Given the description of an element on the screen output the (x, y) to click on. 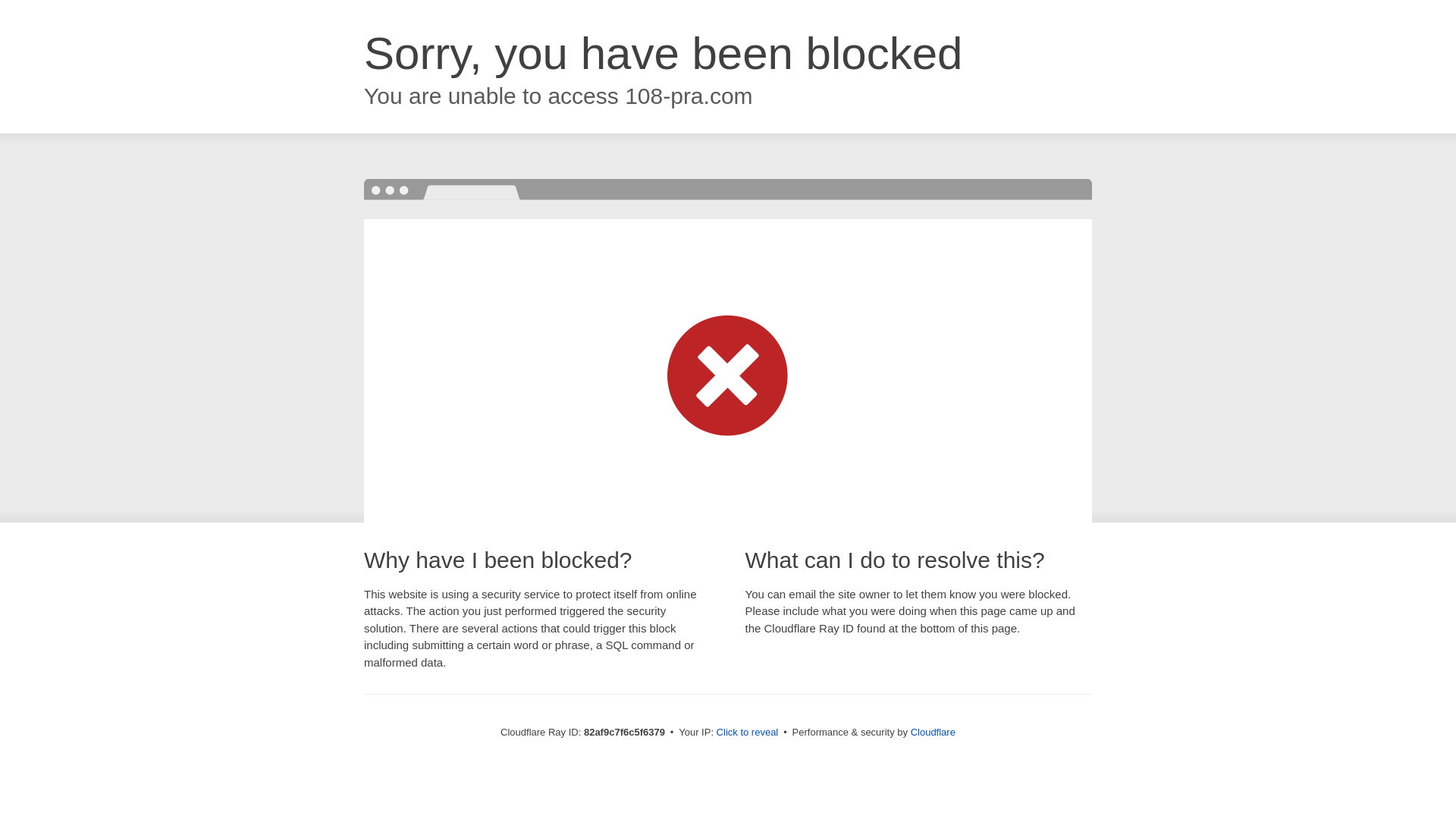
Cloudflare Element type: text (932, 731)
Click to reveal Element type: text (747, 732)
